Given the description of an element on the screen output the (x, y) to click on. 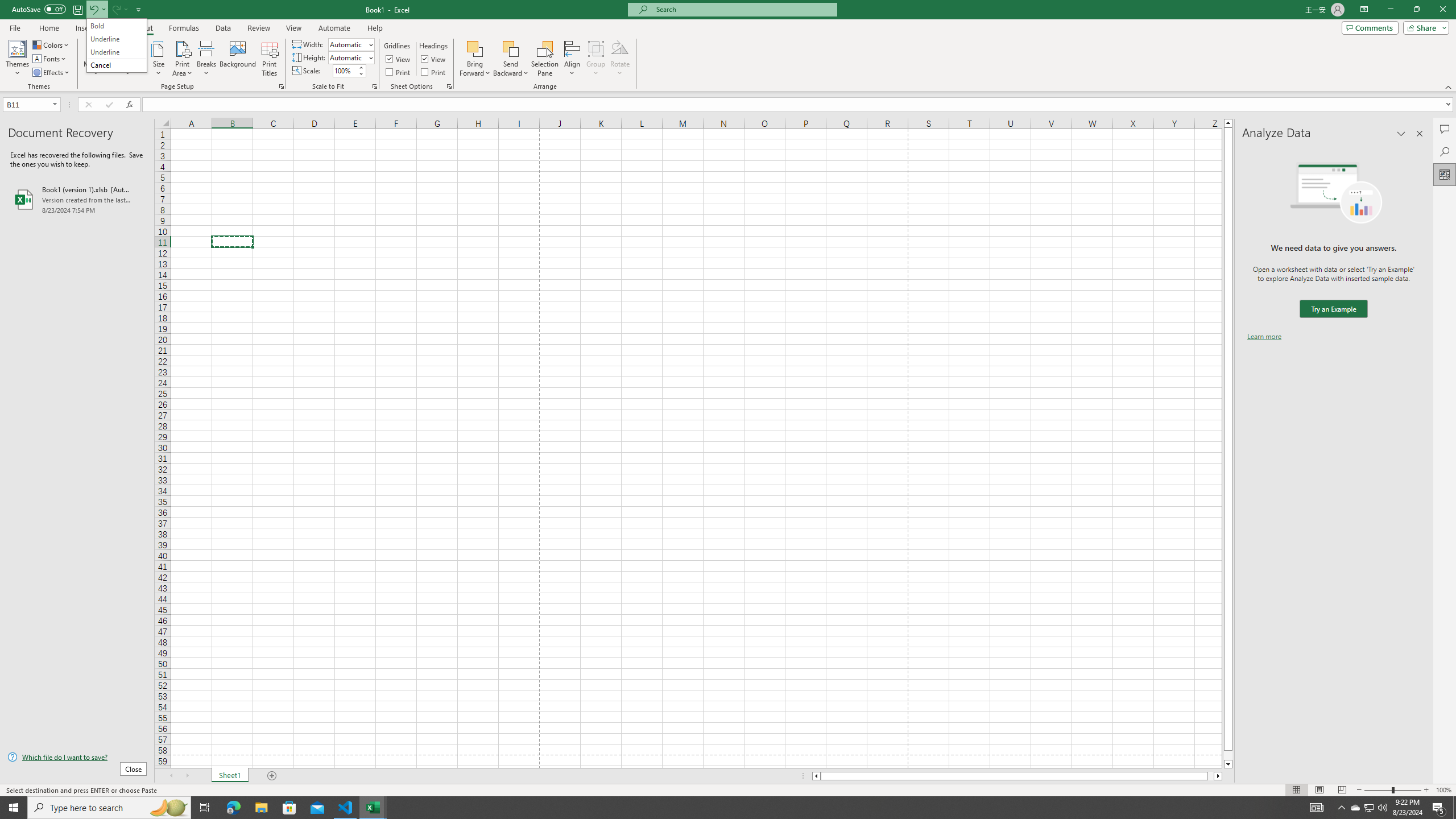
AutomationID: 4105 (1316, 807)
Send Backward (510, 48)
Colors (1355, 807)
Microsoft Store (51, 44)
File Explorer (289, 807)
